Given the description of an element on the screen output the (x, y) to click on. 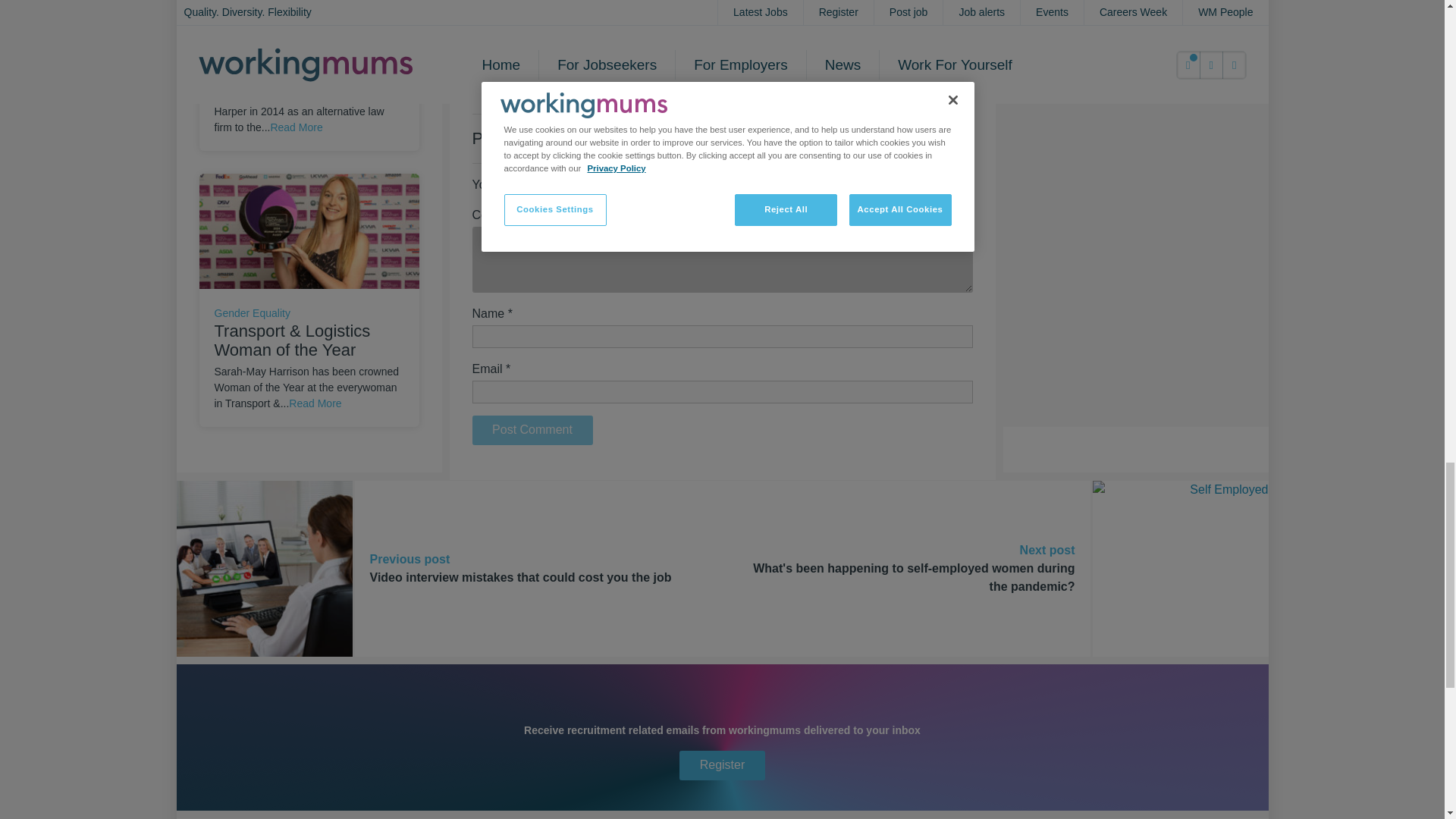
Post Comment (531, 430)
3rd party ad content (1138, 27)
